Given the description of an element on the screen output the (x, y) to click on. 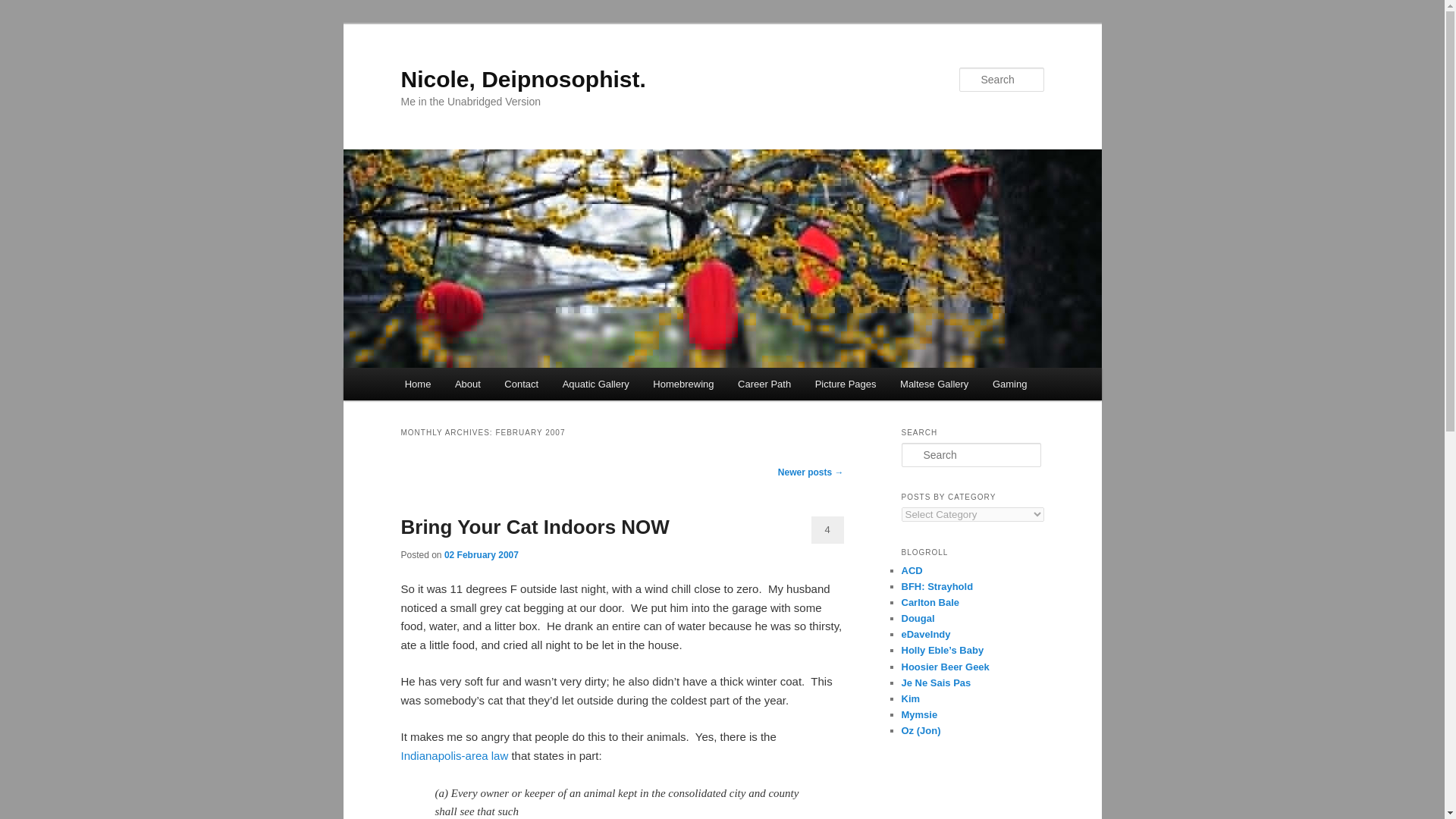
Gaming (1009, 383)
Bring Your Cat Indoors NOW (534, 526)
Career Path (764, 383)
Learn technical stuff. (930, 602)
Mmm.  Beer. (944, 666)
Nicole, Deipnosophist. (522, 78)
GBHII (936, 586)
Indianapolis-area law (454, 755)
Gaming and the darker side of life. (920, 730)
Aquatic Gallery (596, 383)
4 (827, 529)
Search (24, 8)
Search (21, 11)
